Given the description of an element on the screen output the (x, y) to click on. 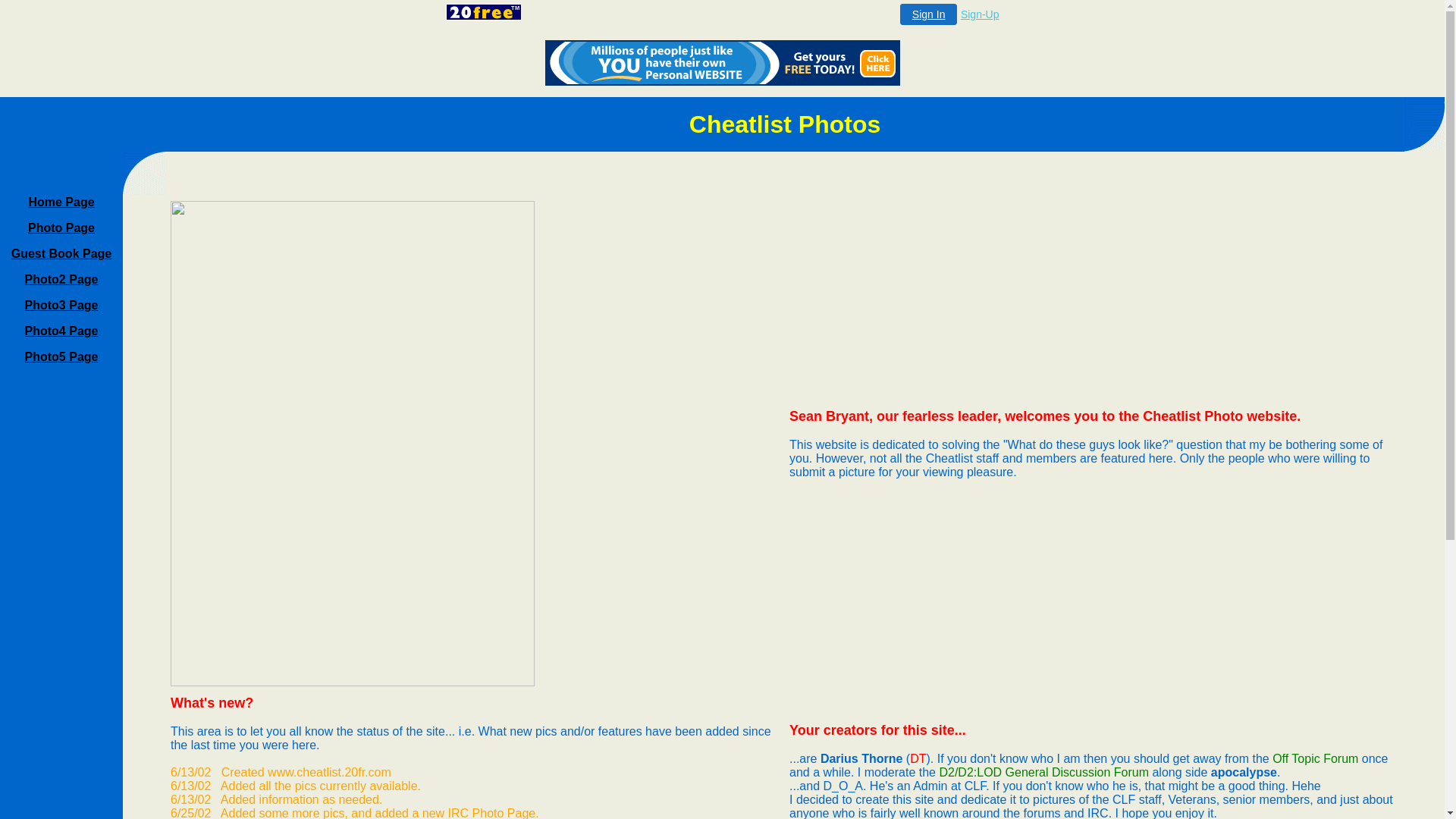
Photo4 Page Element type: text (61, 330)
Photo3 Page Element type: text (61, 304)
Photo Page Element type: text (61, 227)
Photo2 Page Element type: text (61, 279)
Home Page Element type: text (61, 201)
Sign In Element type: text (928, 14)
Sign-Up Element type: text (979, 14)
Photo5 Page Element type: text (61, 356)
Guest Book Page Element type: text (61, 253)
